Given the description of an element on the screen output the (x, y) to click on. 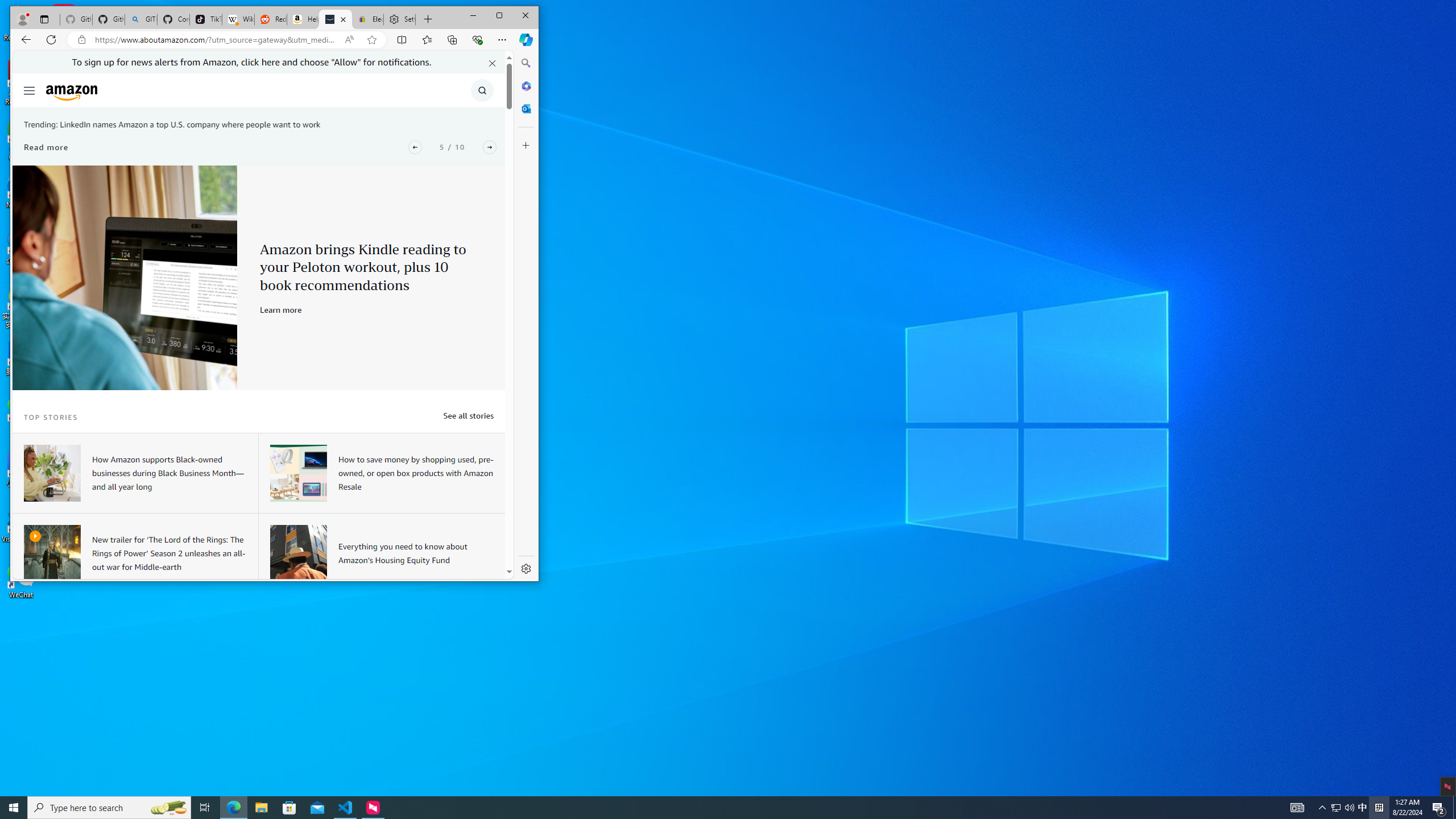
Notification Chevron (1322, 807)
About Amazon (335, 19)
File Explorer (261, 807)
Microsoft Edge - 1 running window (233, 807)
Q2790: 100% (1349, 807)
Running applications (707, 807)
